Given the description of an element on the screen output the (x, y) to click on. 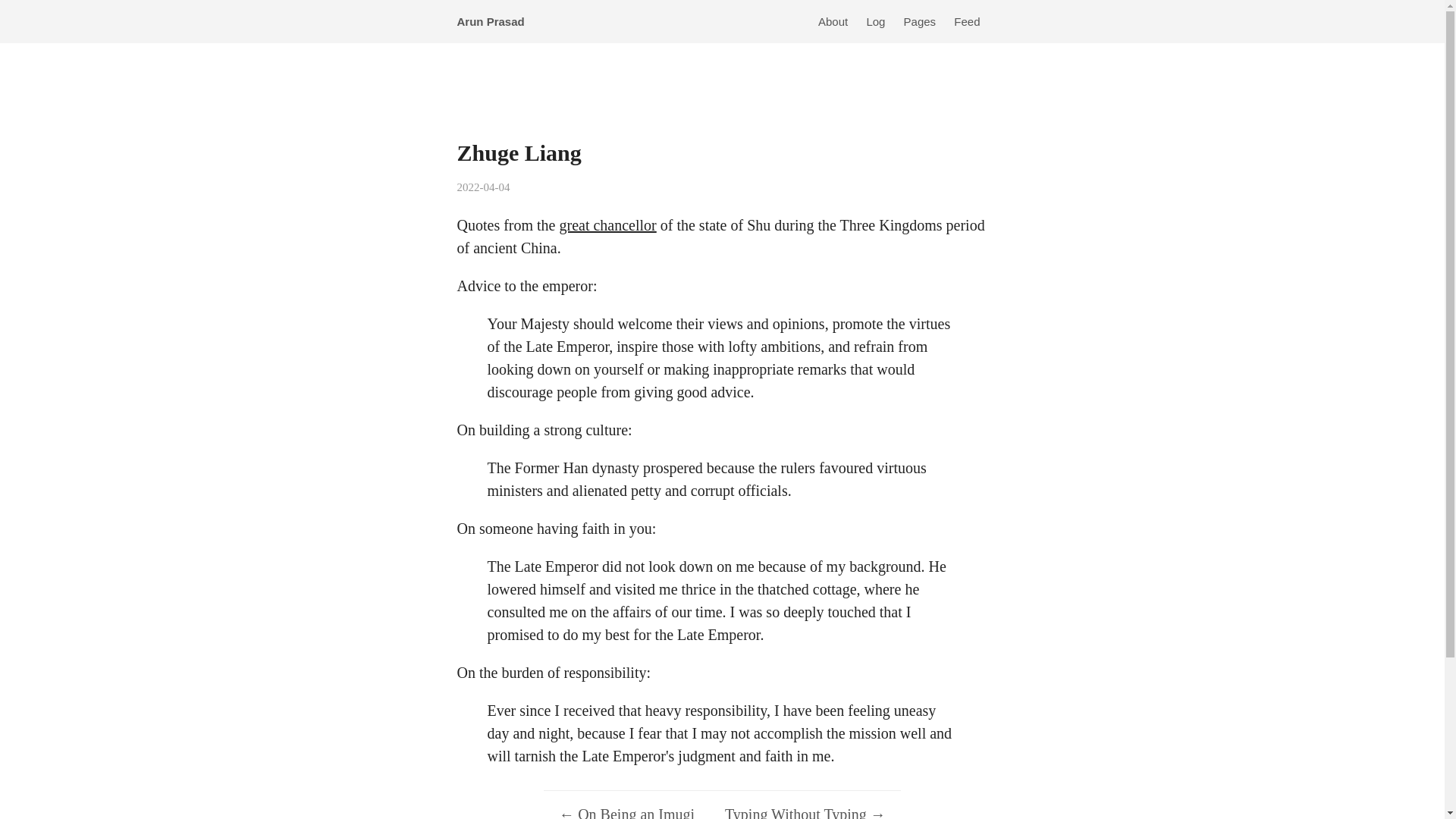
Log (875, 21)
About (833, 21)
Arun Prasad (494, 21)
Pages (919, 21)
Feed (966, 21)
great chancellor (607, 225)
